Given the description of an element on the screen output the (x, y) to click on. 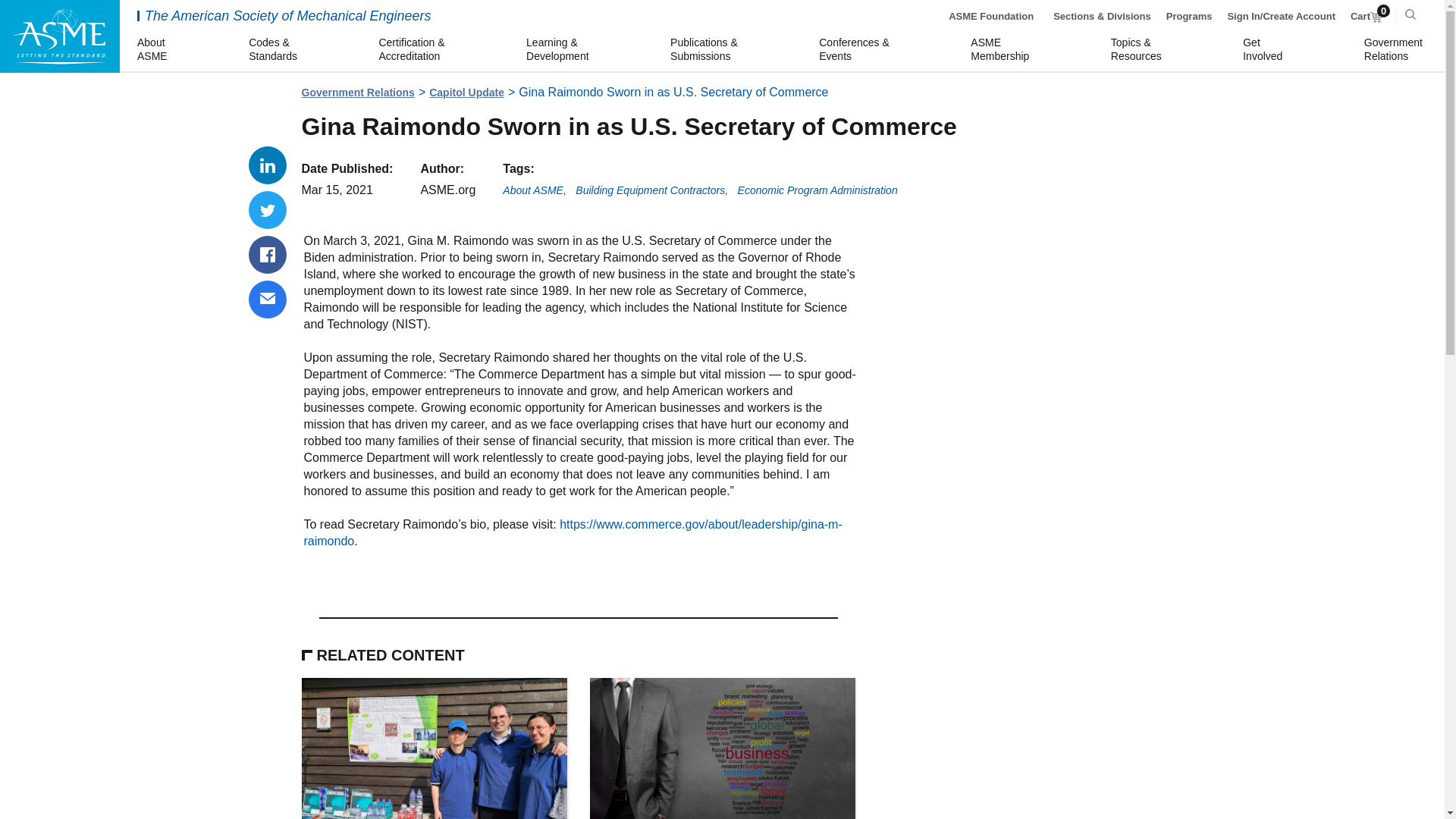
Programs (1189, 16)
About ASME (534, 190)
Government Relations (357, 92)
Building Equipment Contractors (651, 190)
Share on LinkedIn (267, 165)
Capitol Update (1366, 16)
Share on Facebook (466, 92)
